Given the description of an element on the screen output the (x, y) to click on. 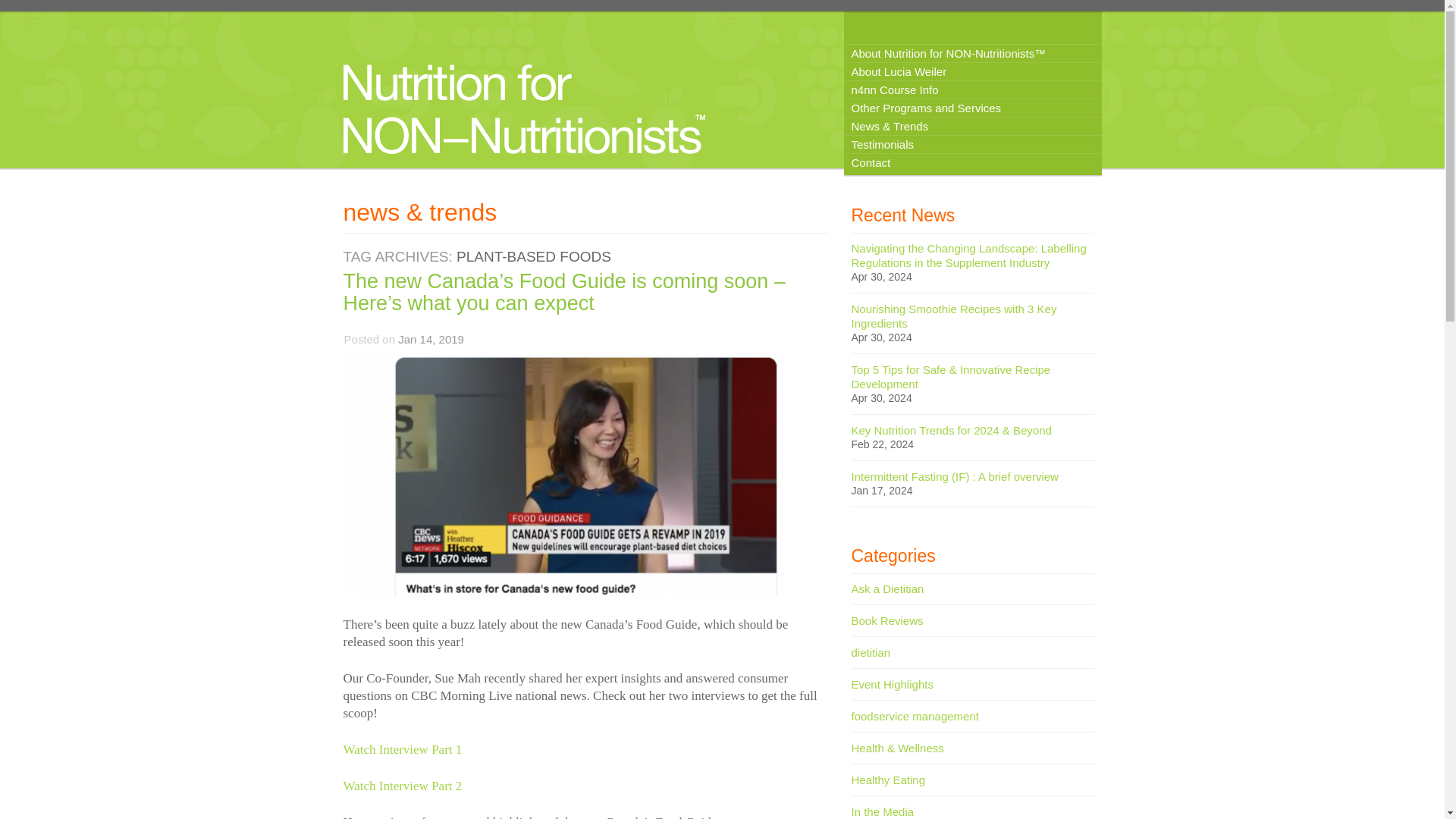
dietitian (869, 652)
Nourishing Smoothie Recipes with 3 Key Ingredients (953, 316)
Watch Interview Part 1 (401, 749)
About Lucia Weiler (971, 71)
Ask a Dietitian (886, 588)
8:36 pm (430, 338)
Watch Interview Part 2 (401, 785)
Jan 14, 2019 (430, 338)
n4nn Course Info (971, 89)
Book Reviews (886, 620)
Testimonials (971, 144)
Contact (971, 162)
Other Programs and Services (971, 107)
